Given the description of an element on the screen output the (x, y) to click on. 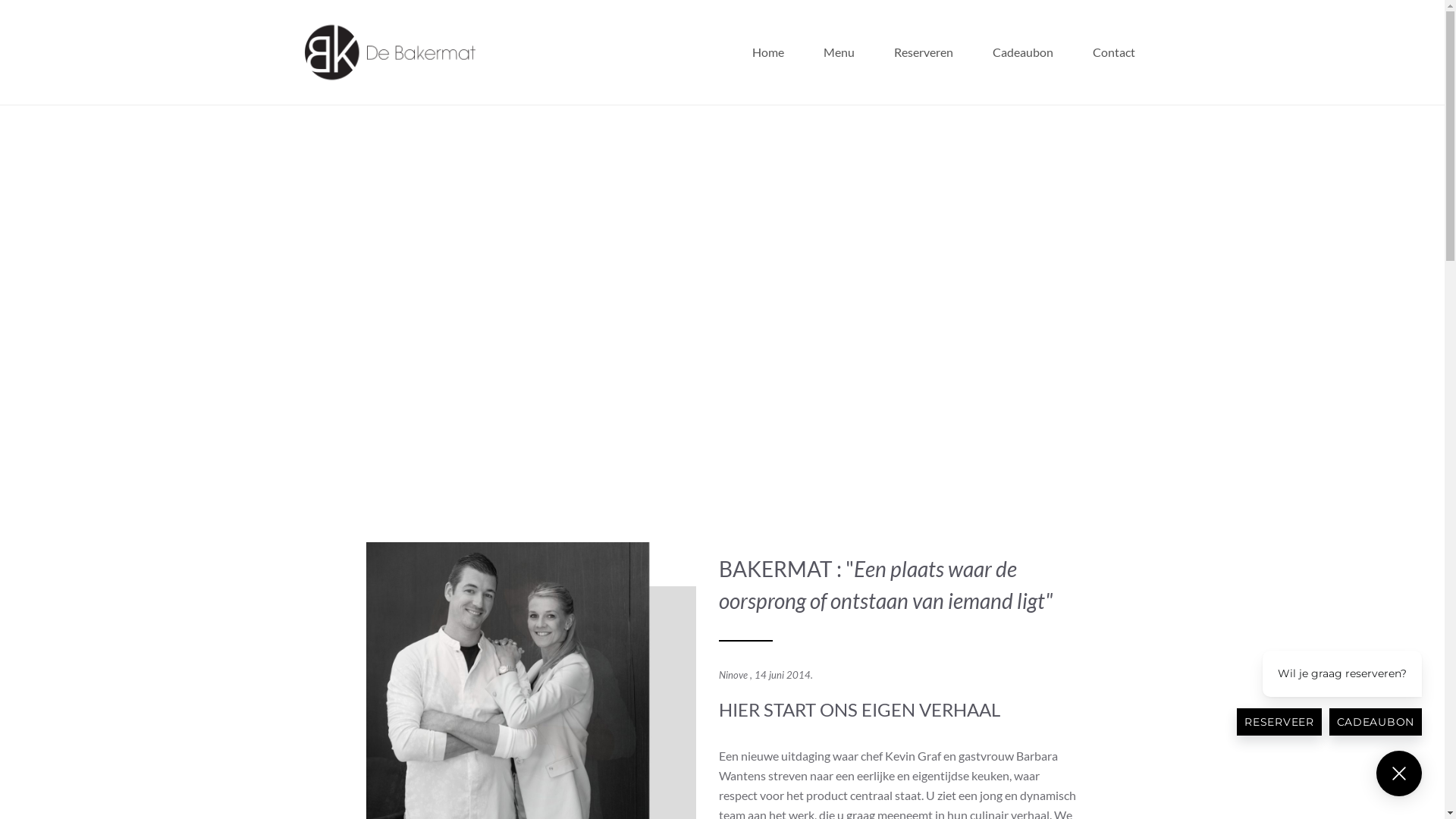
Contact Element type: text (1113, 52)
Home Element type: text (767, 52)
logo-debakermat Element type: hover (389, 51)
Cadeaubon Element type: text (1022, 52)
Menu Element type: text (838, 52)
Reserveren Element type: text (922, 52)
